Given the description of an element on the screen output the (x, y) to click on. 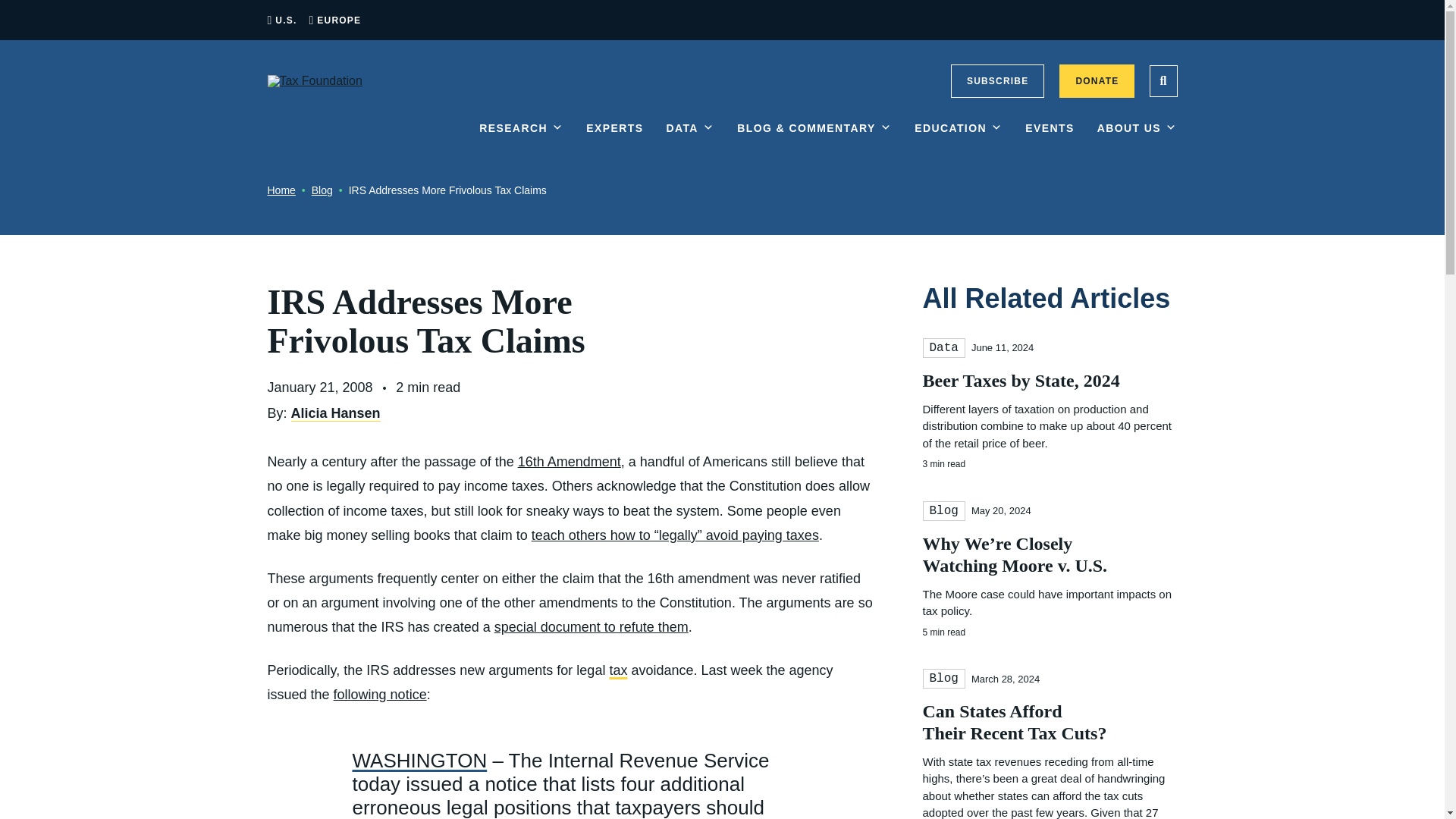
EXPERTS (614, 140)
SUBSCRIBE (996, 80)
DONATE (1096, 80)
RESEARCH (521, 140)
U.S. (286, 20)
EUROPE (339, 20)
Tax Foundation (313, 80)
DATA (689, 140)
